Given the description of an element on the screen output the (x, y) to click on. 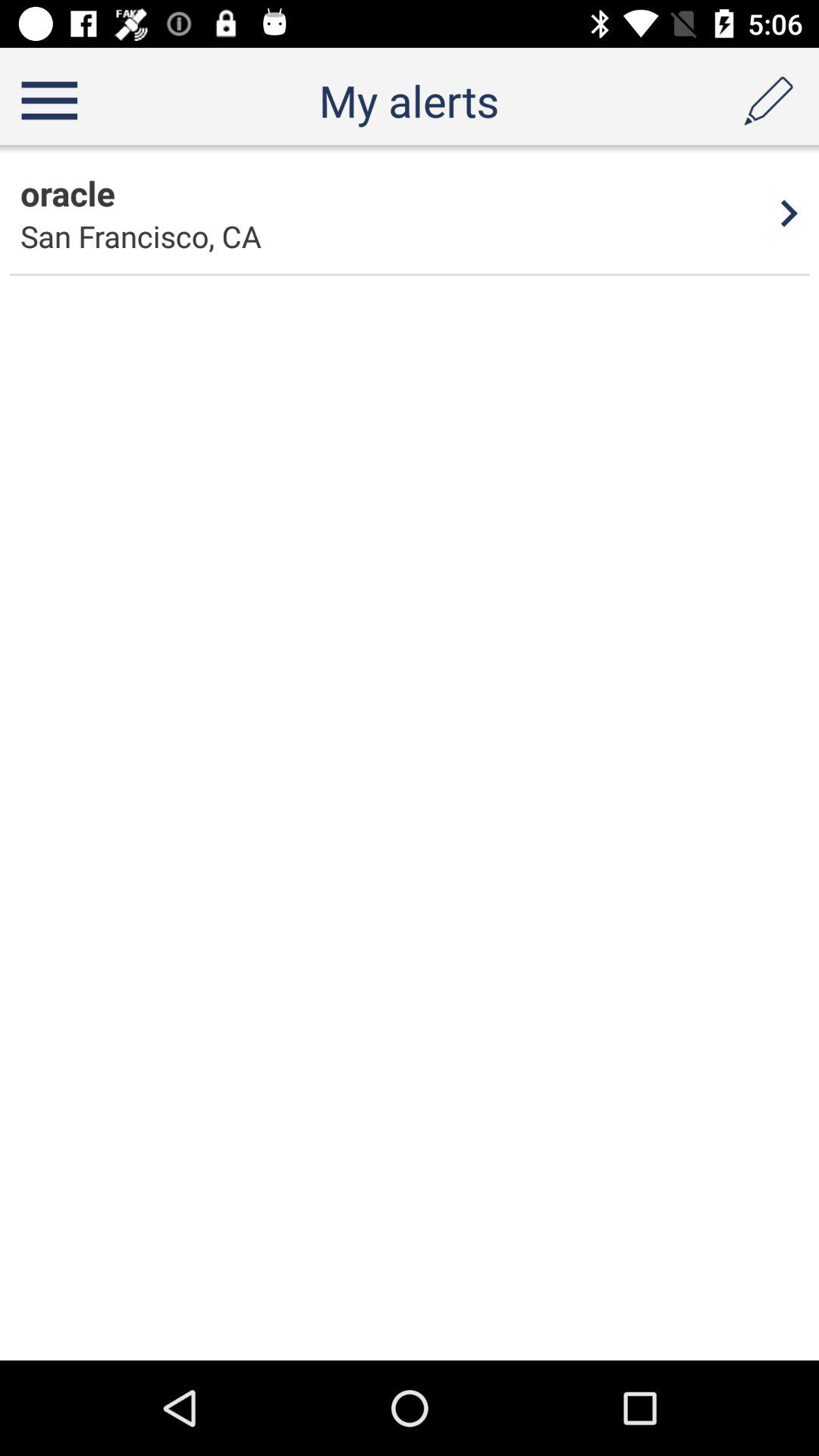
turn on app above san francisco, ca icon (67, 193)
